Given the description of an element on the screen output the (x, y) to click on. 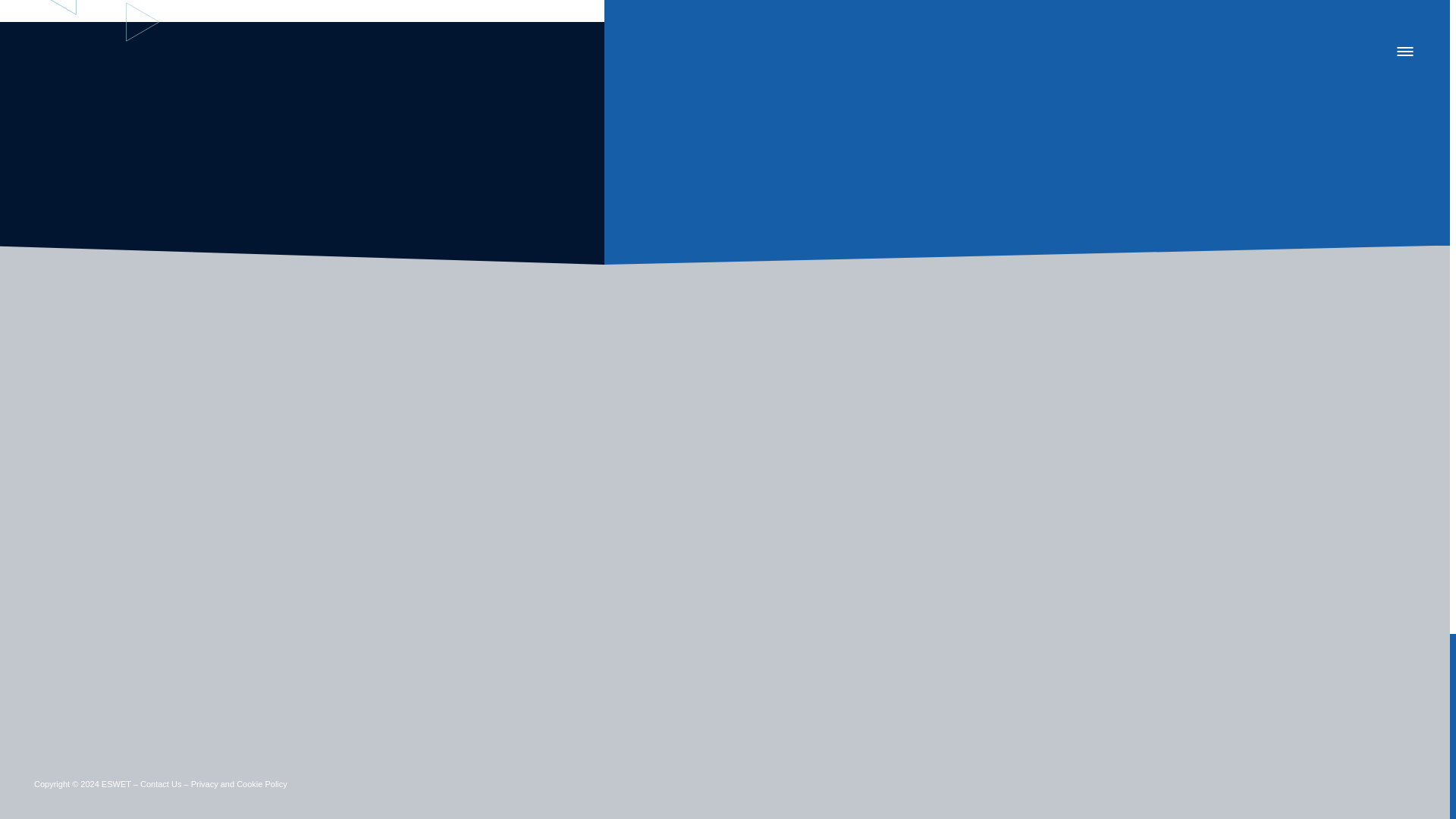
Contact us (159, 783)
